Given the description of an element on the screen output the (x, y) to click on. 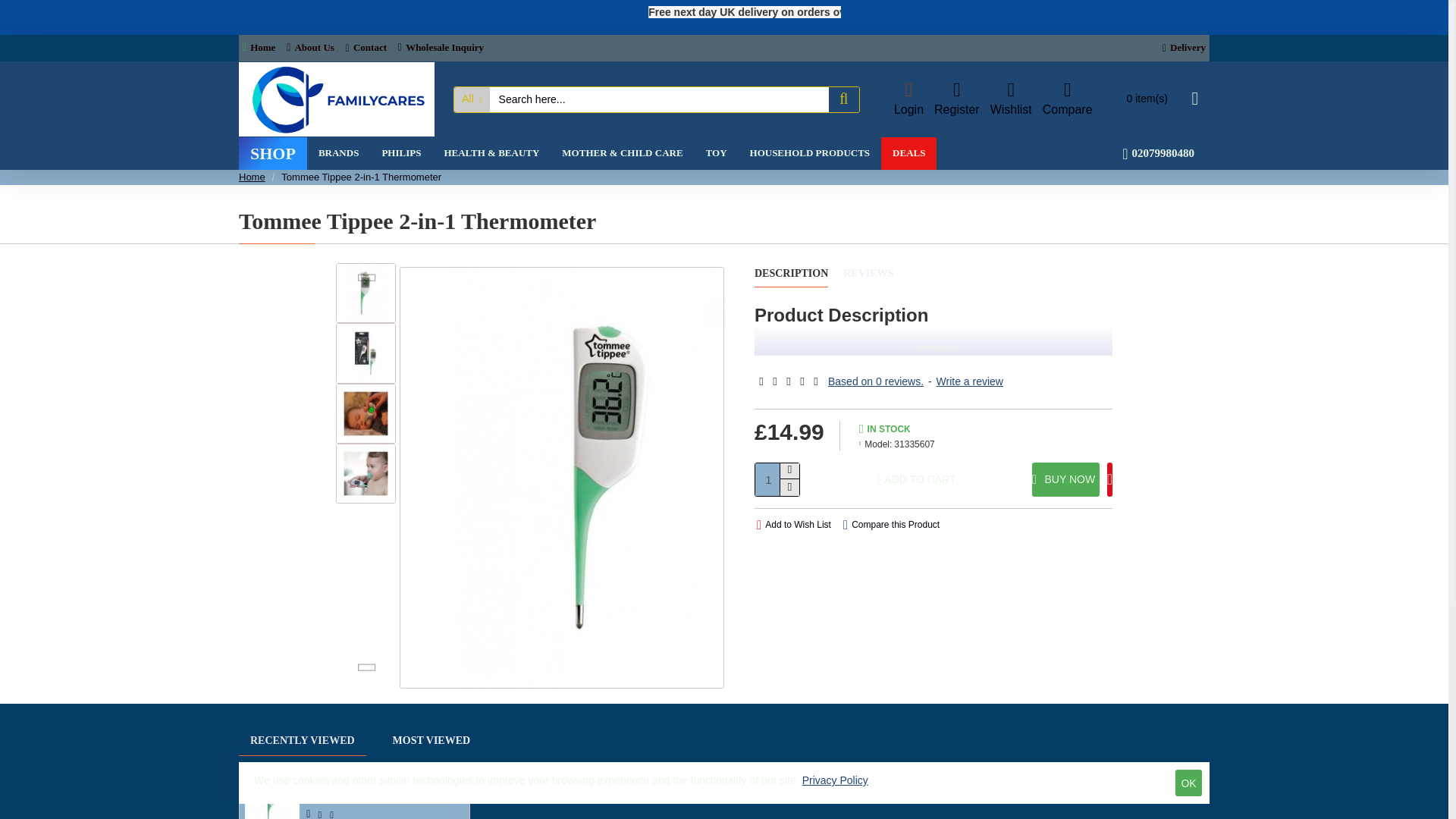
About Us (309, 48)
SHOP (272, 153)
1 (777, 479)
Wishlist (1011, 99)
Tommee Tippee 2-in-1 Thermometer (366, 413)
Tommee Tippee 2-in-1 Thermometer (366, 352)
Delivery (1183, 47)
Tommee Tippee 2-in-1 Thermometer (366, 473)
Contact (366, 48)
Wholesale Inquiry (440, 48)
FAMILYCARES (335, 99)
Home (258, 48)
Tommee Tippee 2-in-1 Thermometer (366, 292)
BRANDS (338, 153)
